Given the description of an element on the screen output the (x, y) to click on. 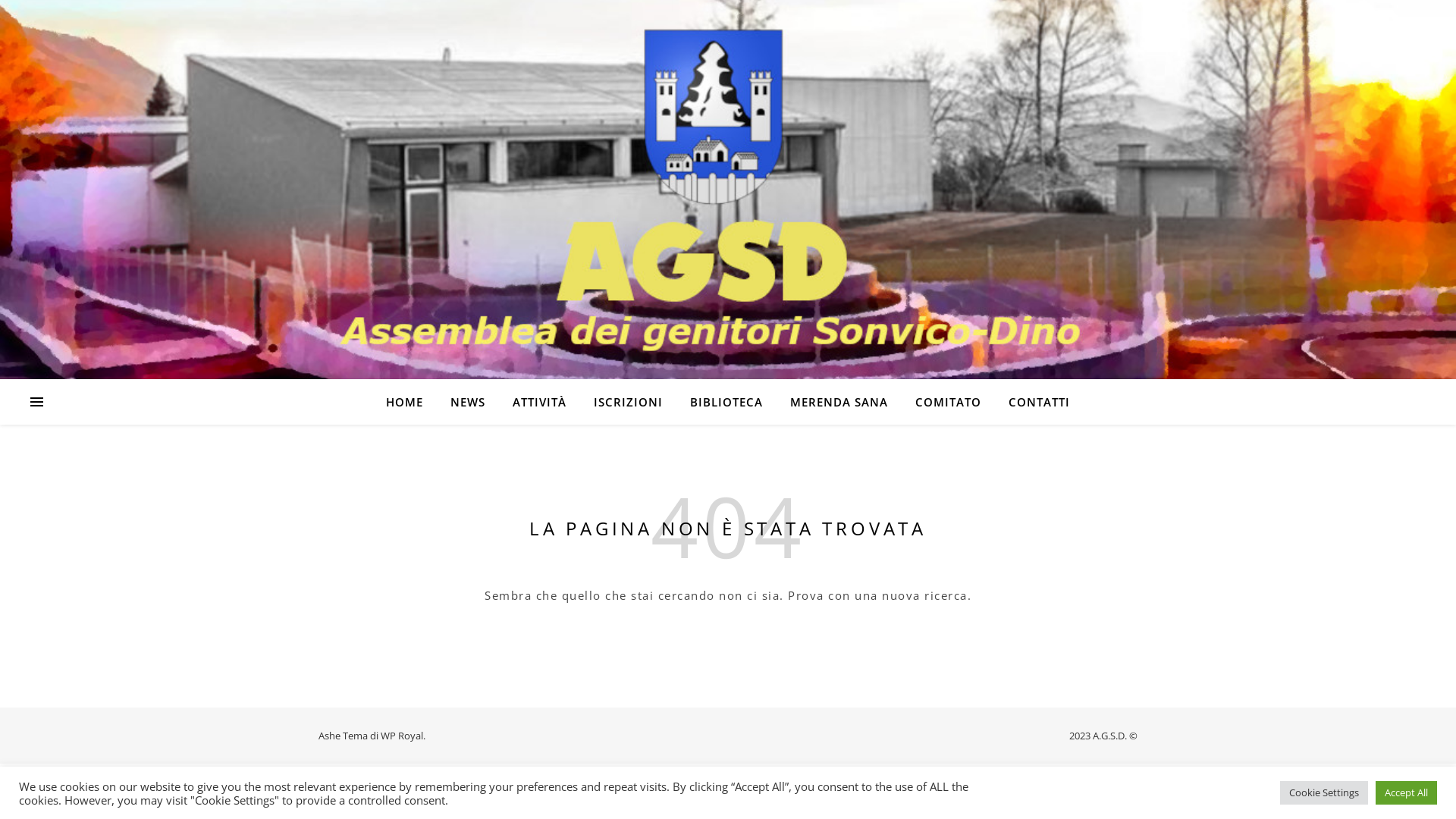
ISCRIZIONI Element type: text (627, 401)
MERENDA SANA Element type: text (839, 401)
Accept All Element type: text (1406, 792)
BIBLIOTECA Element type: text (726, 401)
COMITATO Element type: text (948, 401)
CONTATTI Element type: text (1033, 401)
NEWS Element type: text (467, 401)
HOME Element type: text (410, 401)
Cookie Settings Element type: text (1324, 792)
WP Royal Element type: text (401, 735)
